Given the description of an element on the screen output the (x, y) to click on. 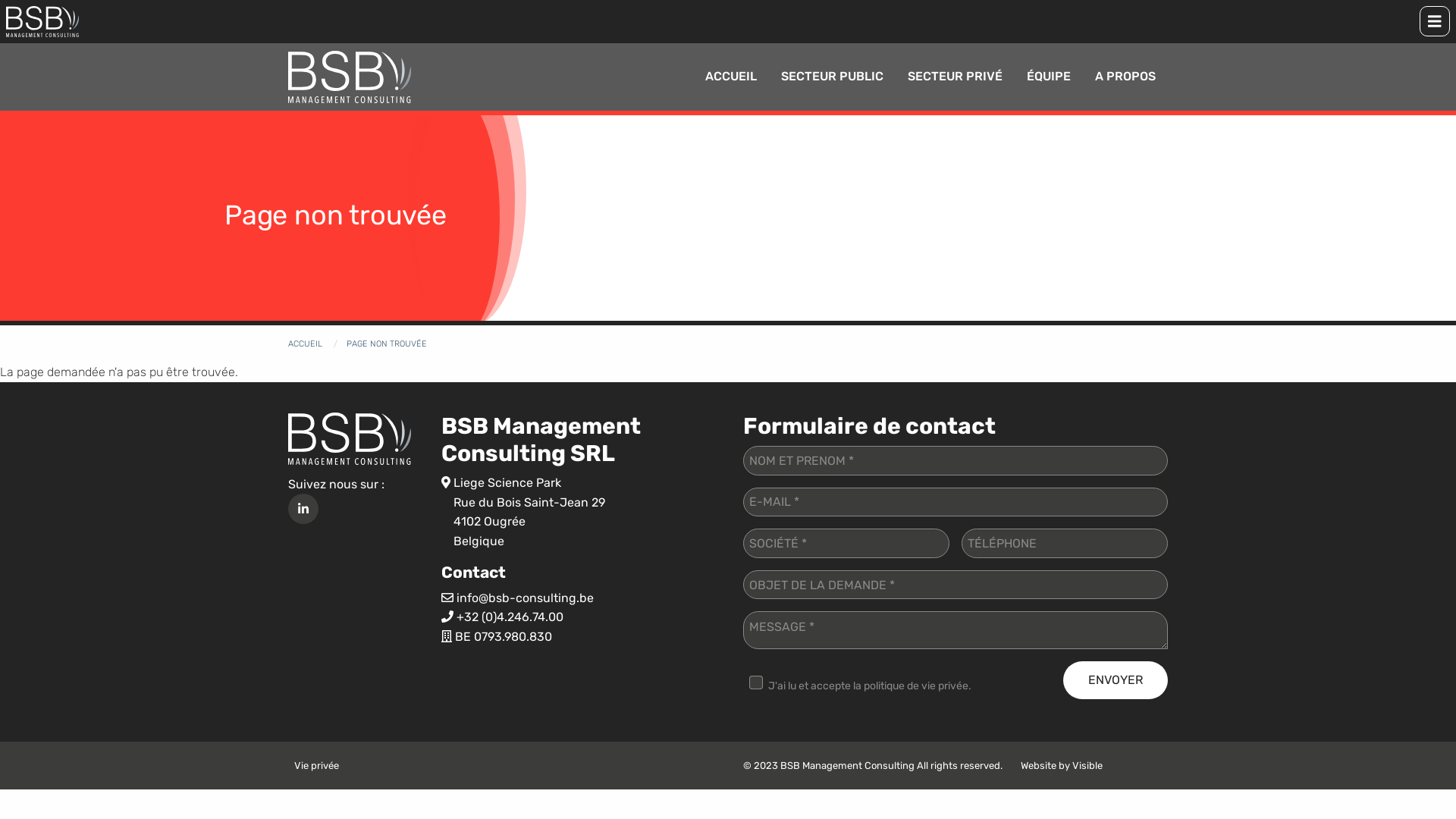
Menu Element type: text (1434, 21)
ACCUEIL Element type: text (730, 76)
SECTEUR PUBLIC Element type: text (831, 76)
Aller au contenu principal Element type: text (0, 0)
info@bsb-consulting.be Element type: text (524, 597)
Website by Visible Element type: text (1061, 765)
ACCUEIL Element type: text (305, 343)
ENVOYER Element type: text (1115, 680)
BSB Management Consulting Accueil Element type: hover (349, 76)
+32 (0)4.246.74.00 Element type: text (509, 616)
A PROPOS Element type: text (1124, 76)
Linkedin Element type: text (303, 508)
BSB Management Consulting Accueil Element type: hover (42, 21)
